Given the description of an element on the screen output the (x, y) to click on. 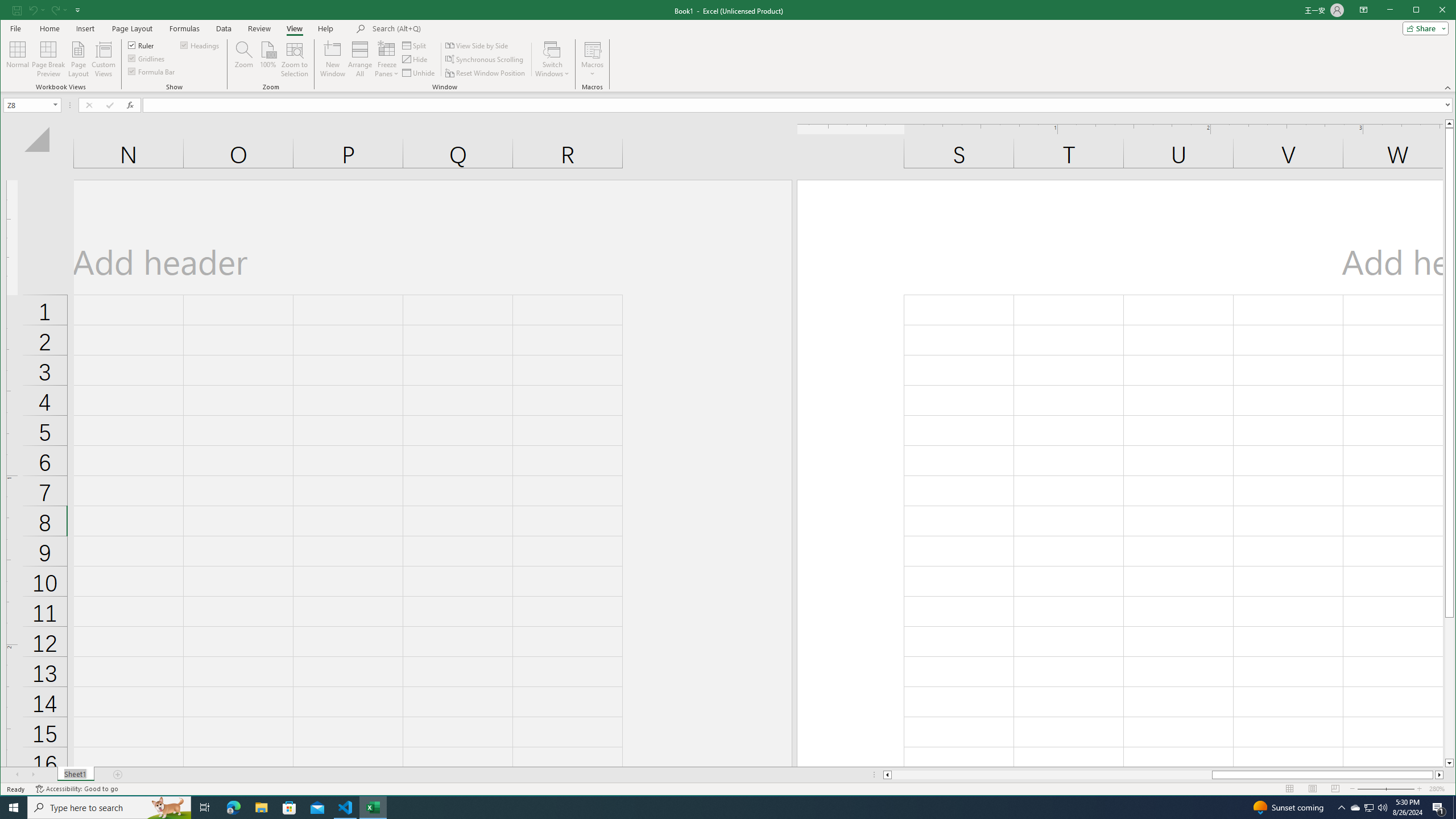
Headings (200, 44)
Sunset coming (1288, 807)
Arrange All (360, 59)
Hide (415, 59)
100% (267, 59)
Excel - 1 running window (373, 807)
